Given the description of an element on the screen output the (x, y) to click on. 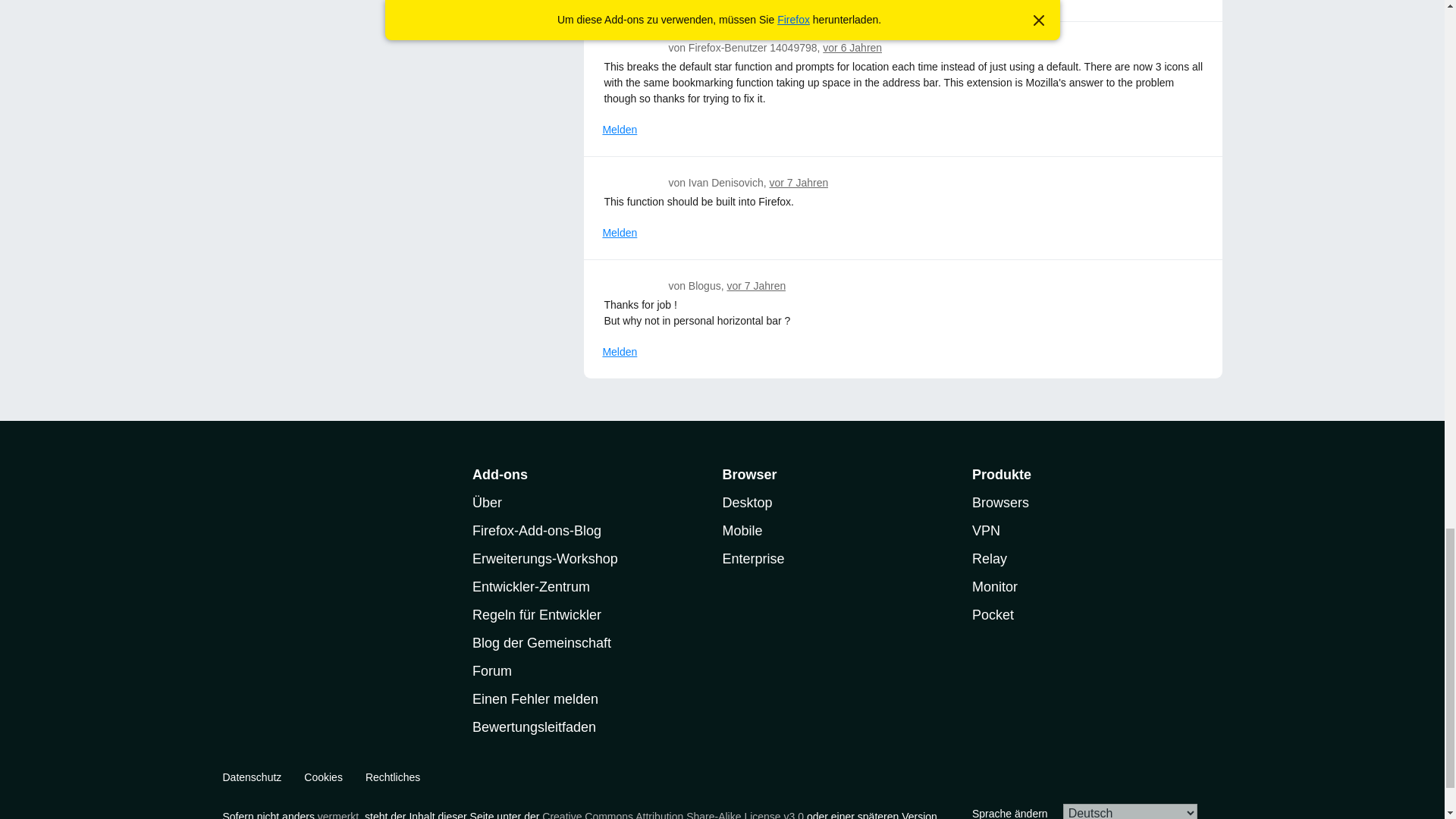
vor 6 Jahren (852, 47)
Melden (619, 1)
